Given the description of an element on the screen output the (x, y) to click on. 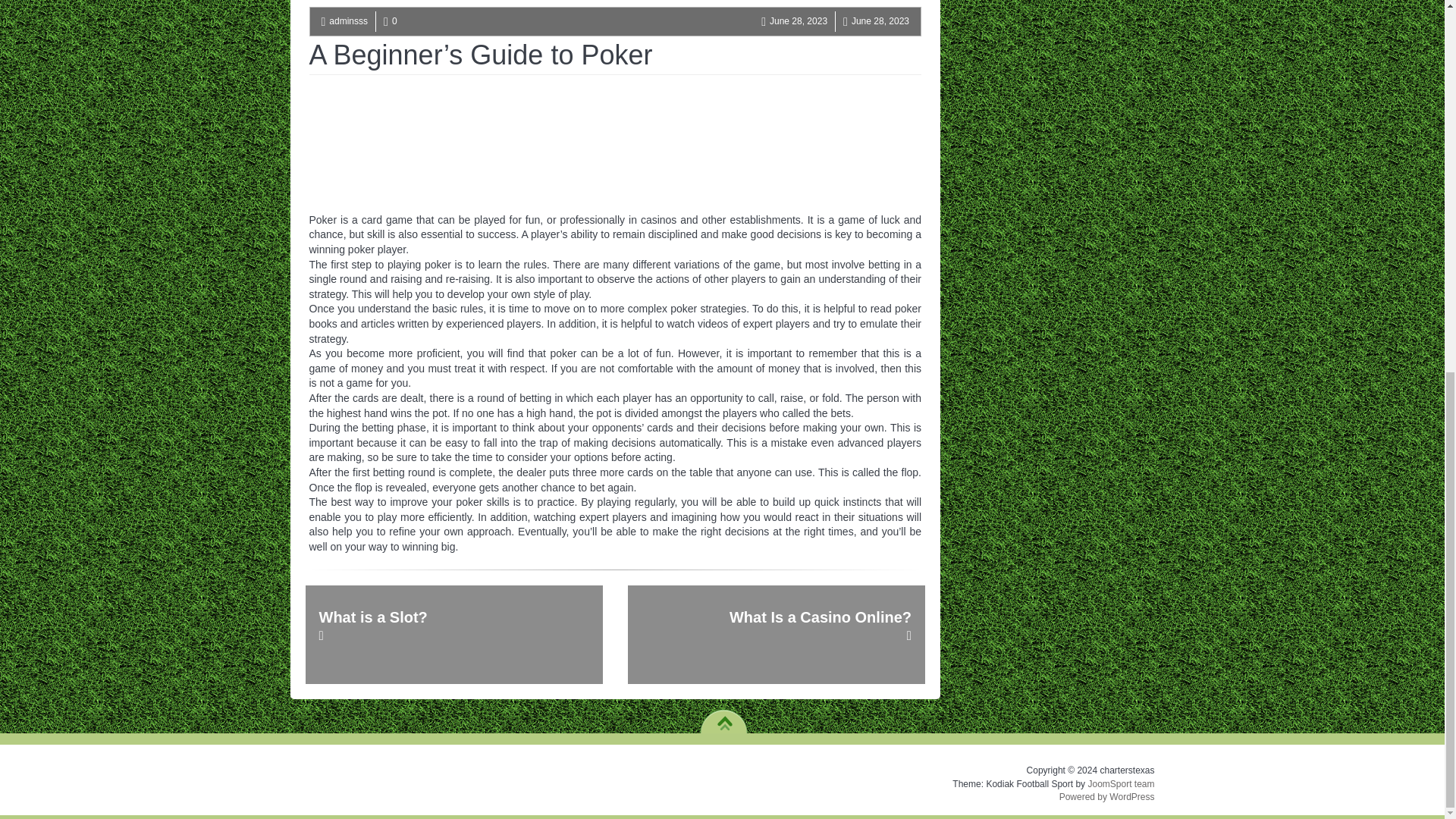
What is a Slot? (453, 634)
What Is a Casino Online? (775, 634)
adminsss (348, 20)
 The Best WordPress Sport Plugin for your league and club  (1120, 783)
